Given the description of an element on the screen output the (x, y) to click on. 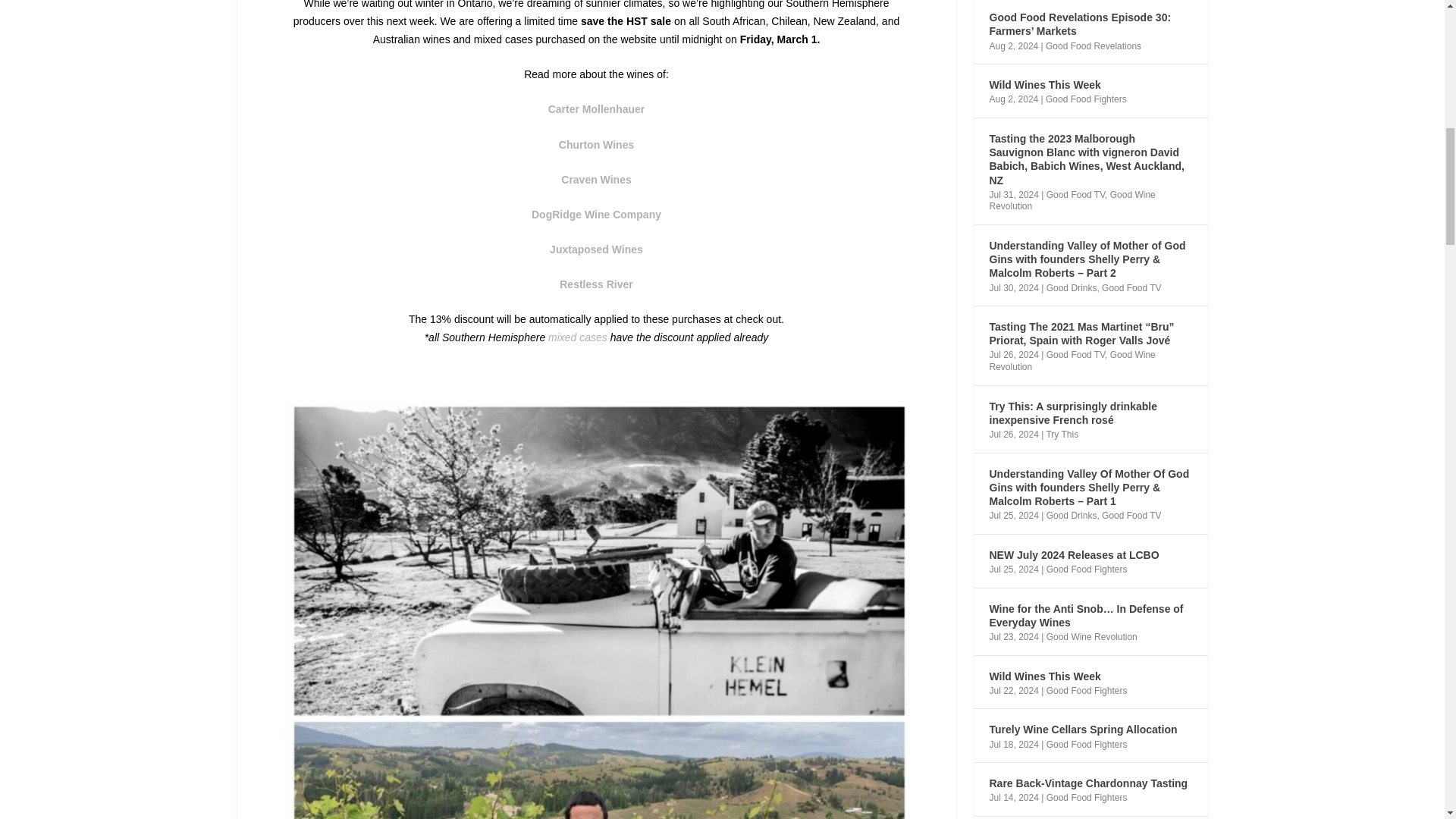
Churton Wines (596, 144)
DogRidge Wine Company (596, 214)
Carter Mollenhauer (596, 109)
Juxtaposed Wines (596, 249)
Craven Wines (595, 179)
mixed cases (577, 337)
Restless River (596, 284)
